Given the description of an element on the screen output the (x, y) to click on. 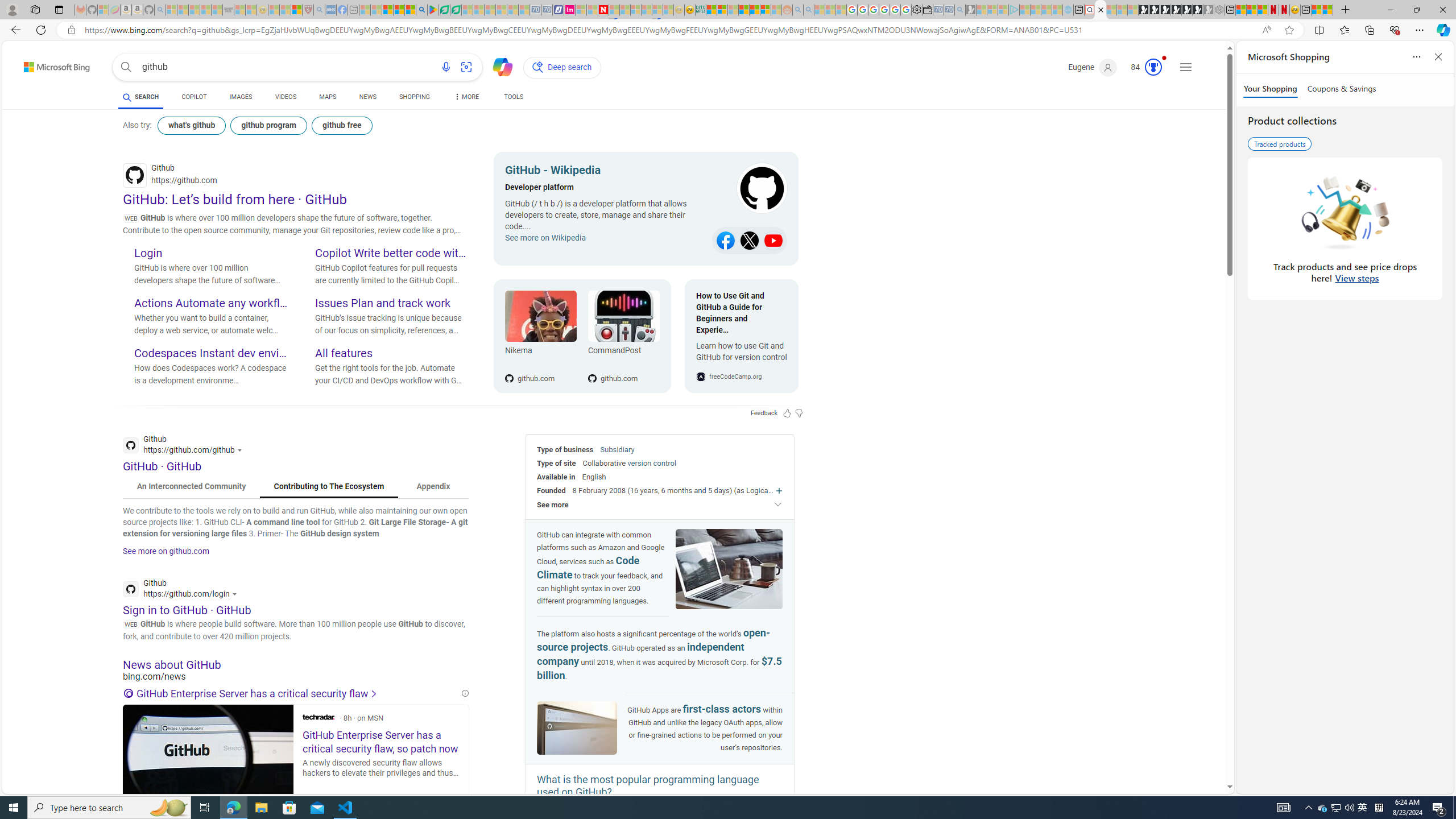
what's github (191, 125)
MSNBC - MSN - Sleeping (364, 9)
github free (341, 125)
Global web icon (130, 588)
Image of GitHub (577, 728)
Global Web Icon (700, 376)
Pets - MSN (398, 9)
DITOGAMES AG Imprint (700, 9)
